Given the description of an element on the screen output the (x, y) to click on. 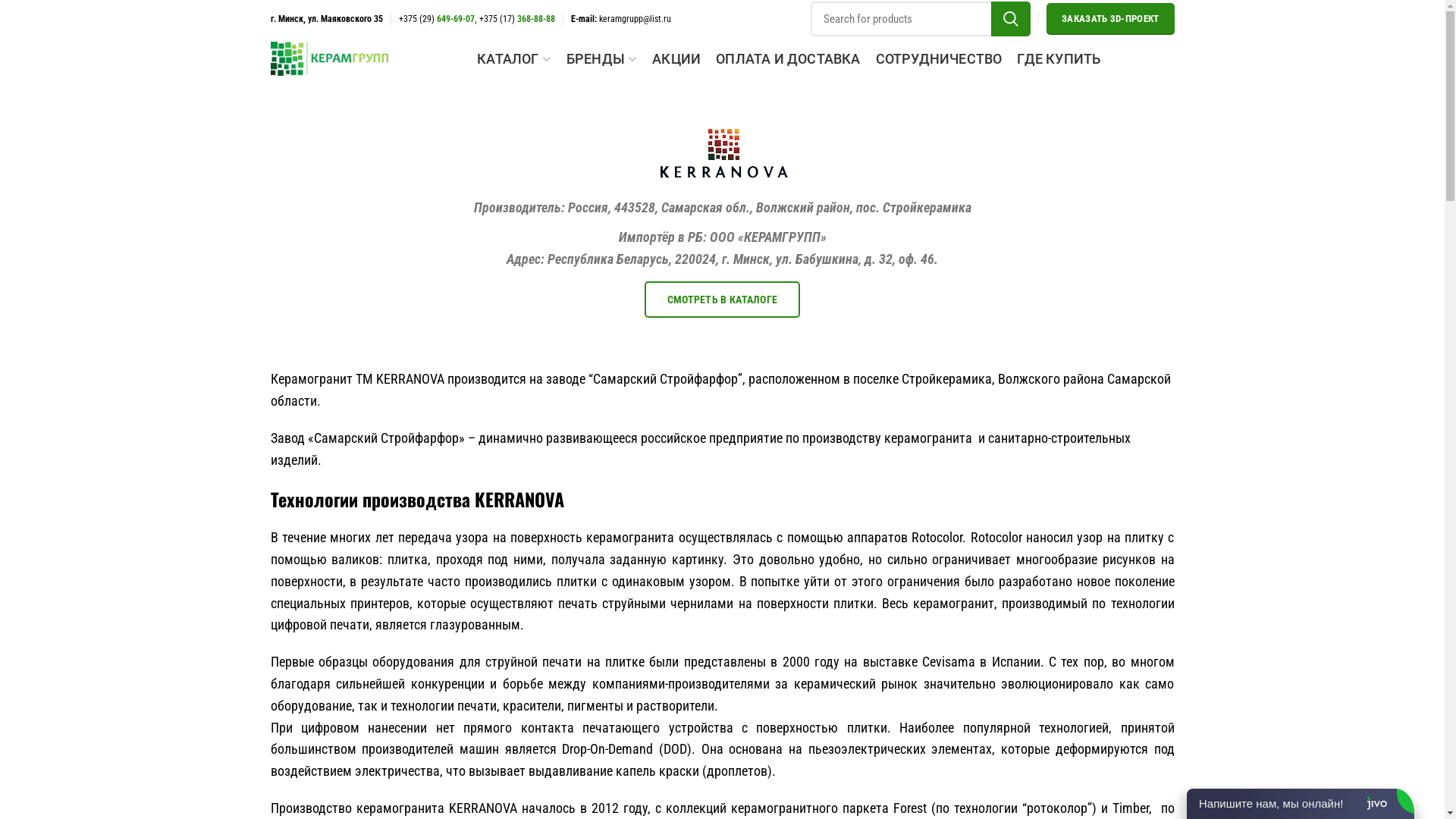
SEARCH Element type: text (1010, 18)
